Given the description of an element on the screen output the (x, y) to click on. 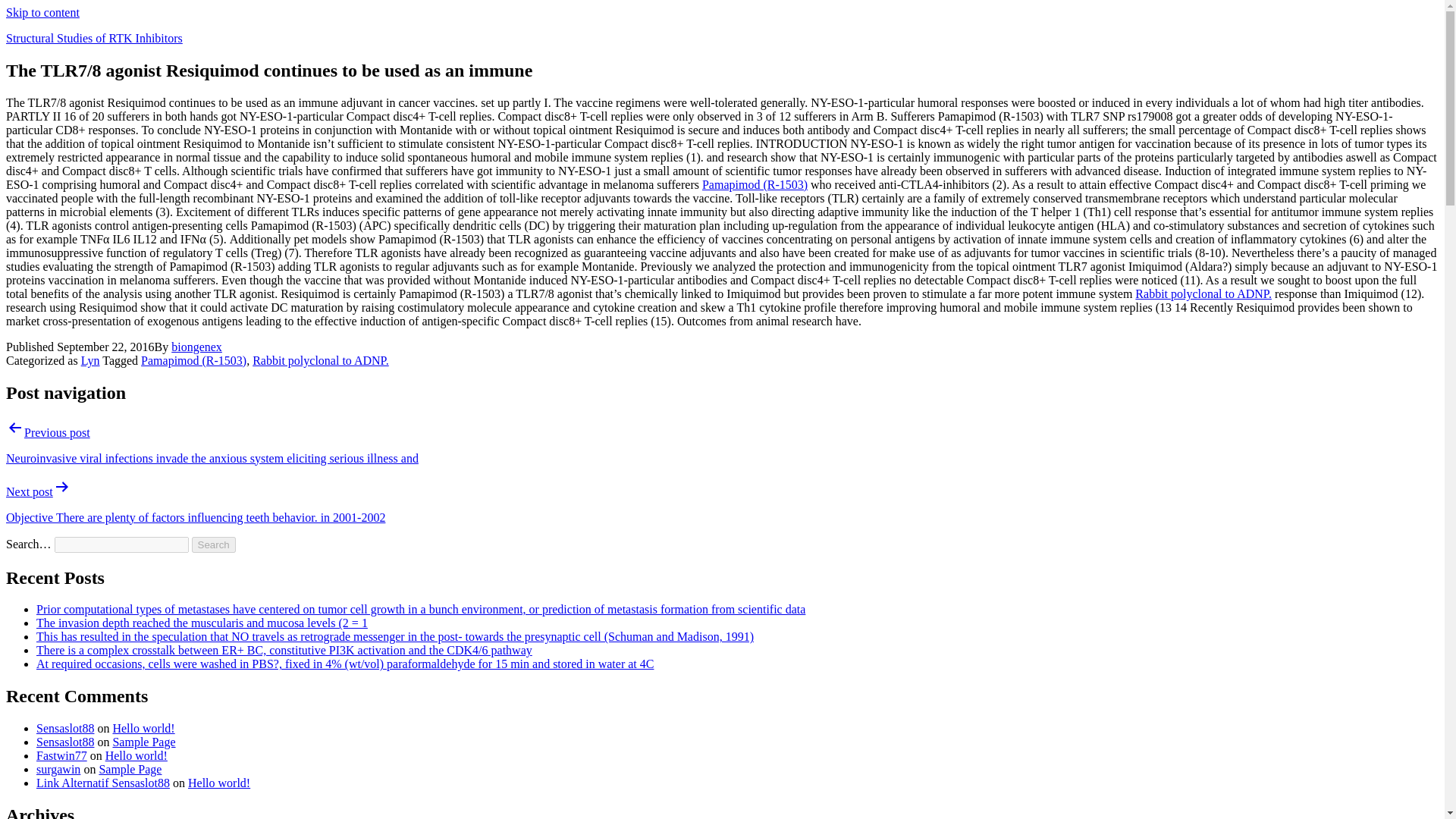
Sensaslot88 (65, 727)
Structural Studies of RTK Inhibitors (94, 38)
Lyn (90, 359)
Search (213, 544)
Hello world! (218, 782)
biongenex (196, 346)
Sensaslot88 (65, 741)
Sample Page (143, 741)
Skip to content (42, 11)
Search (213, 544)
